Given the description of an element on the screen output the (x, y) to click on. 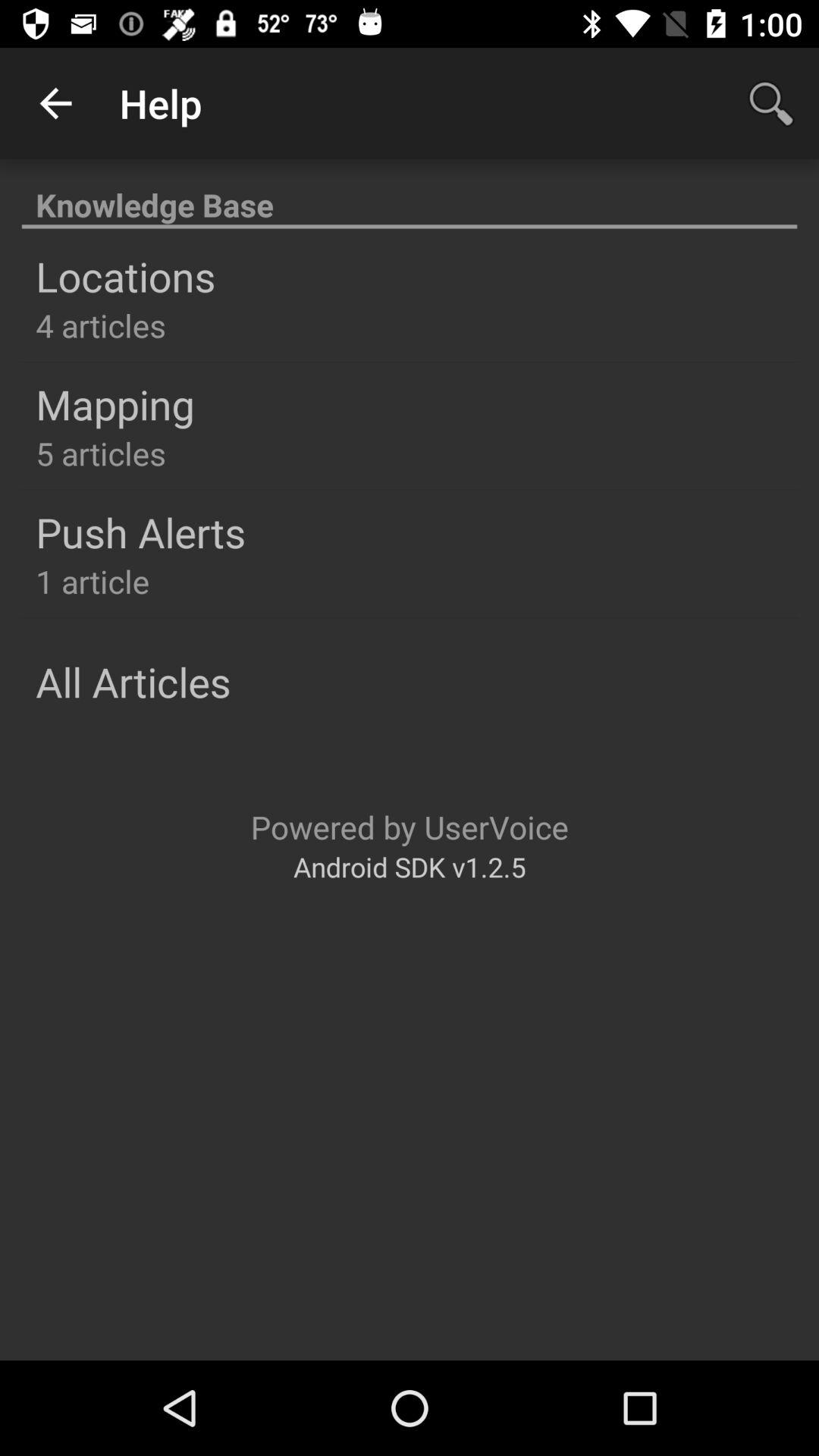
flip to the 5 articles item (100, 452)
